Given the description of an element on the screen output the (x, y) to click on. 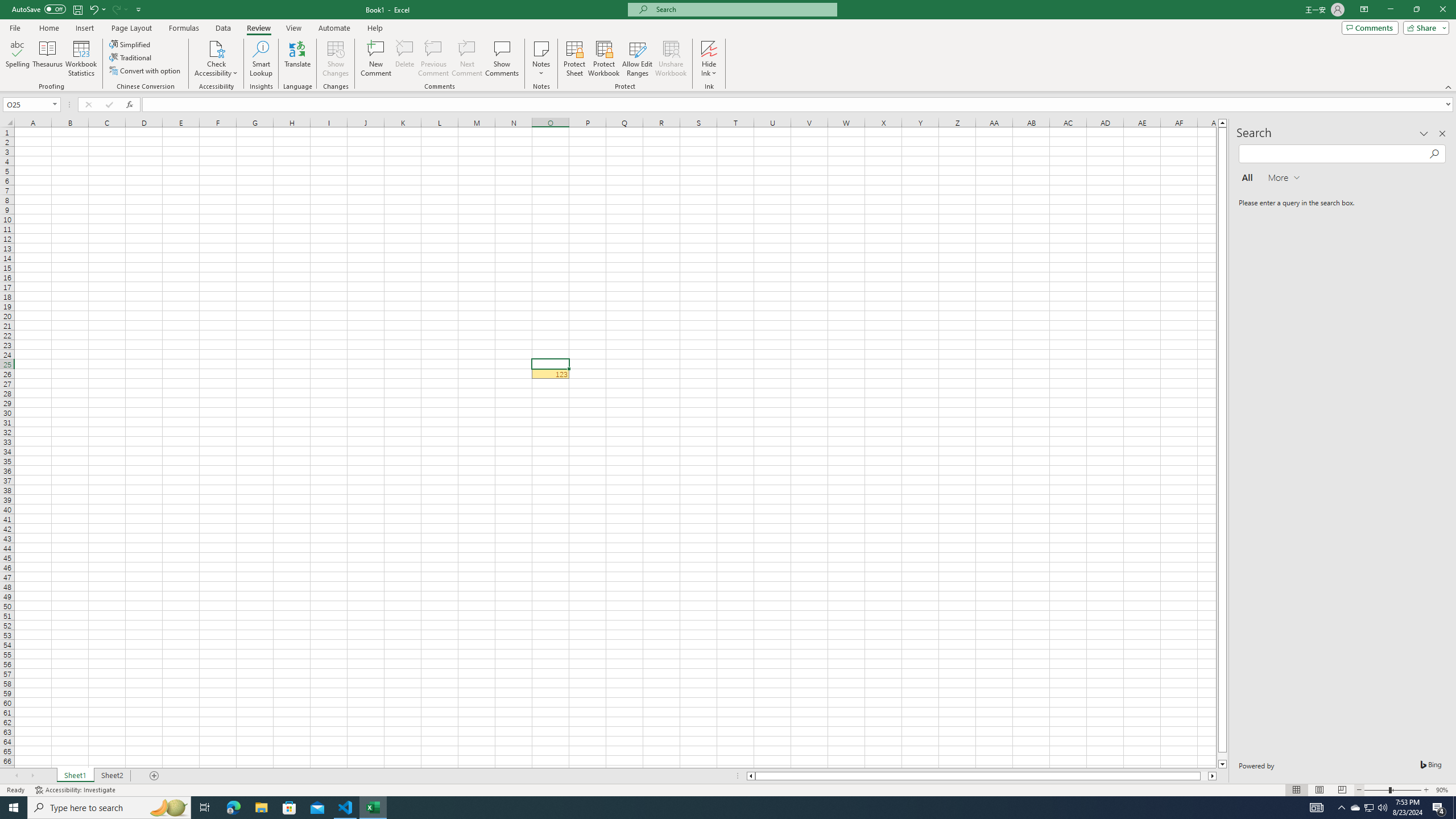
Protect Sheet... (574, 58)
Show Changes (335, 58)
